Given the description of an element on the screen output the (x, y) to click on. 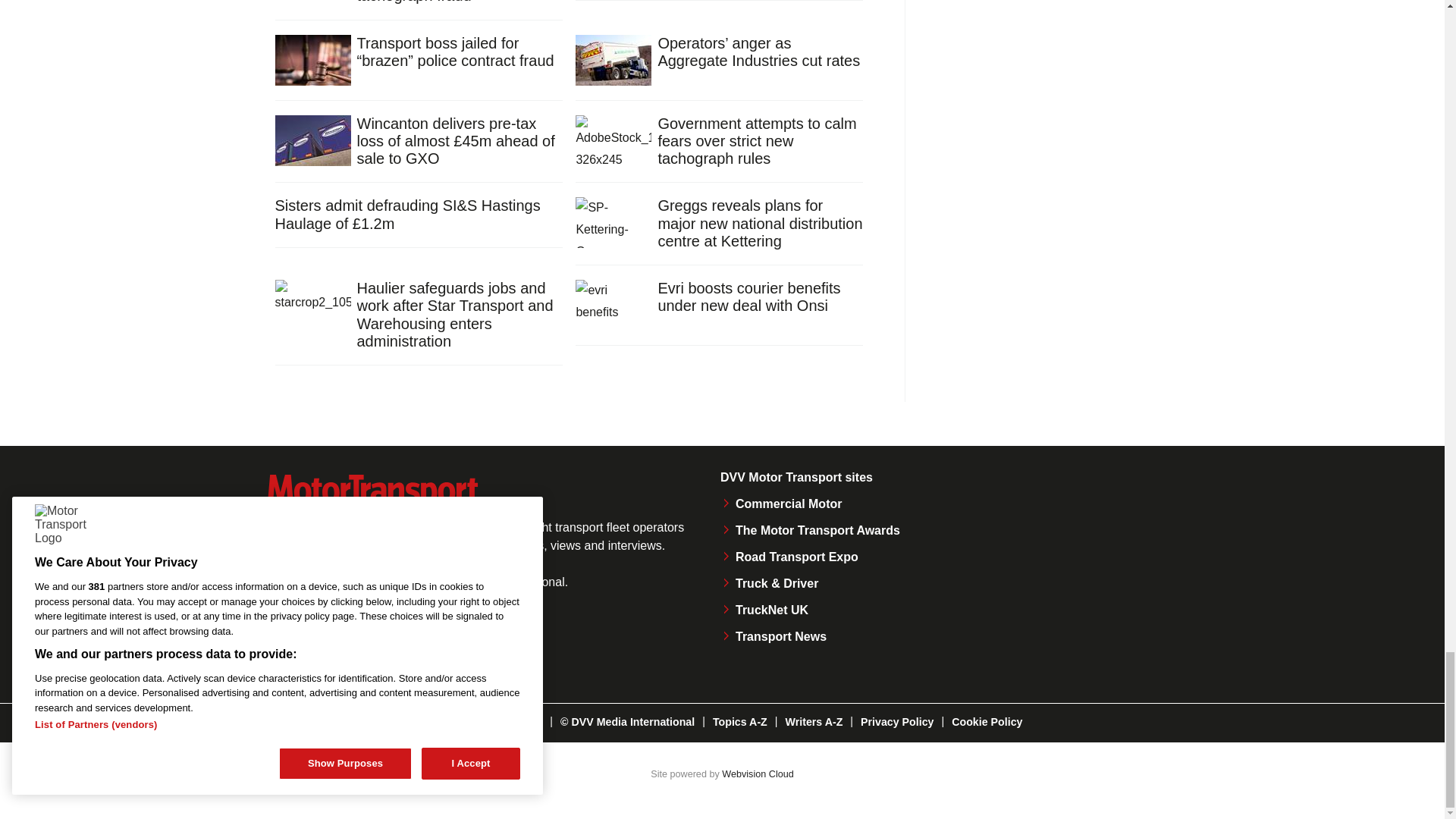
Connect with us on Facebook (284, 647)
Connect with us on Linked in (387, 647)
Email us (438, 647)
Connect with us on Twitter (336, 647)
